Given the description of an element on the screen output the (x, y) to click on. 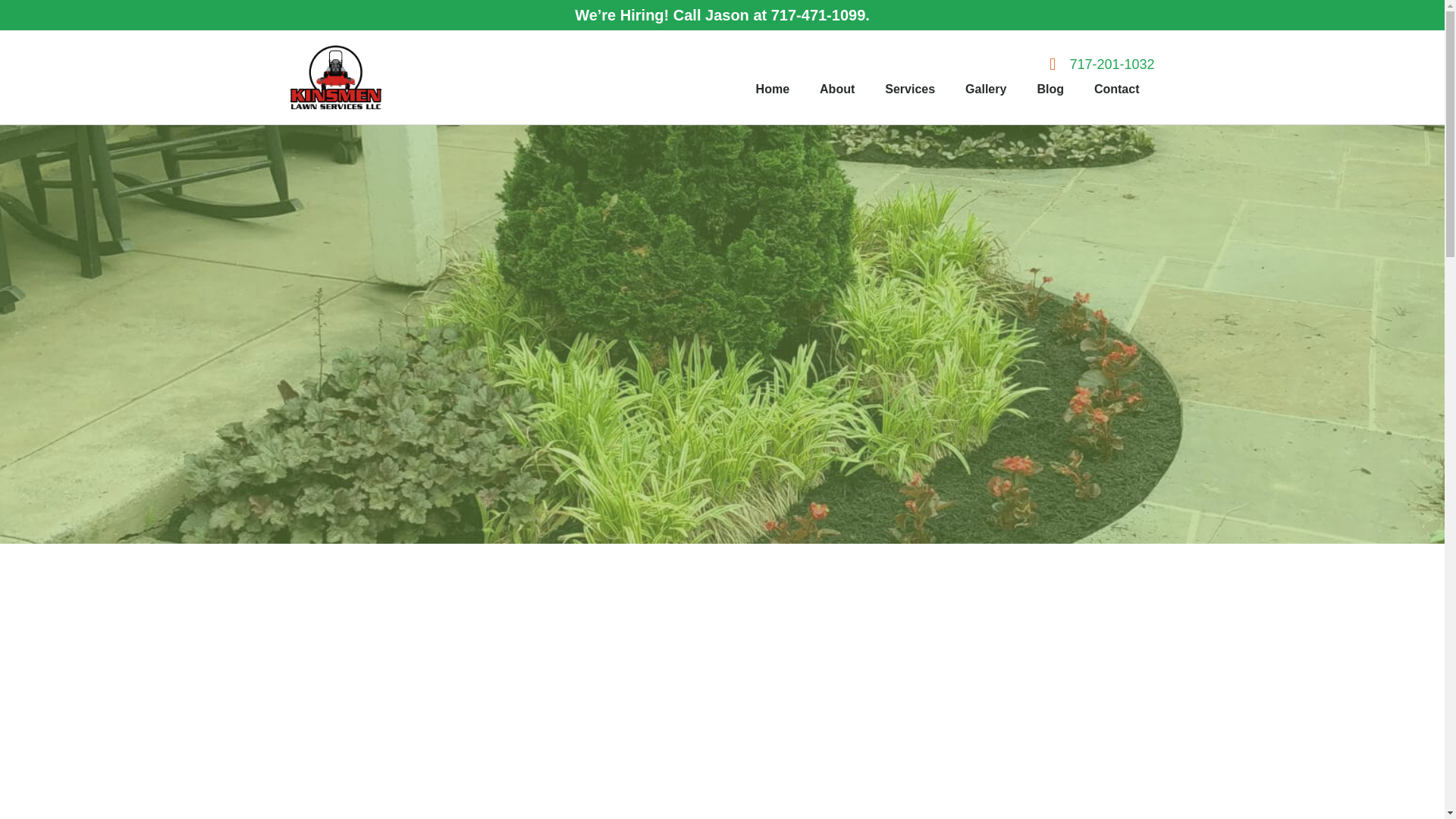
717-201-1032 (1094, 64)
Gallery (986, 88)
Home (773, 88)
Services (909, 88)
Blog (1050, 88)
About (837, 88)
Contact (1116, 88)
